Given the description of an element on the screen output the (x, y) to click on. 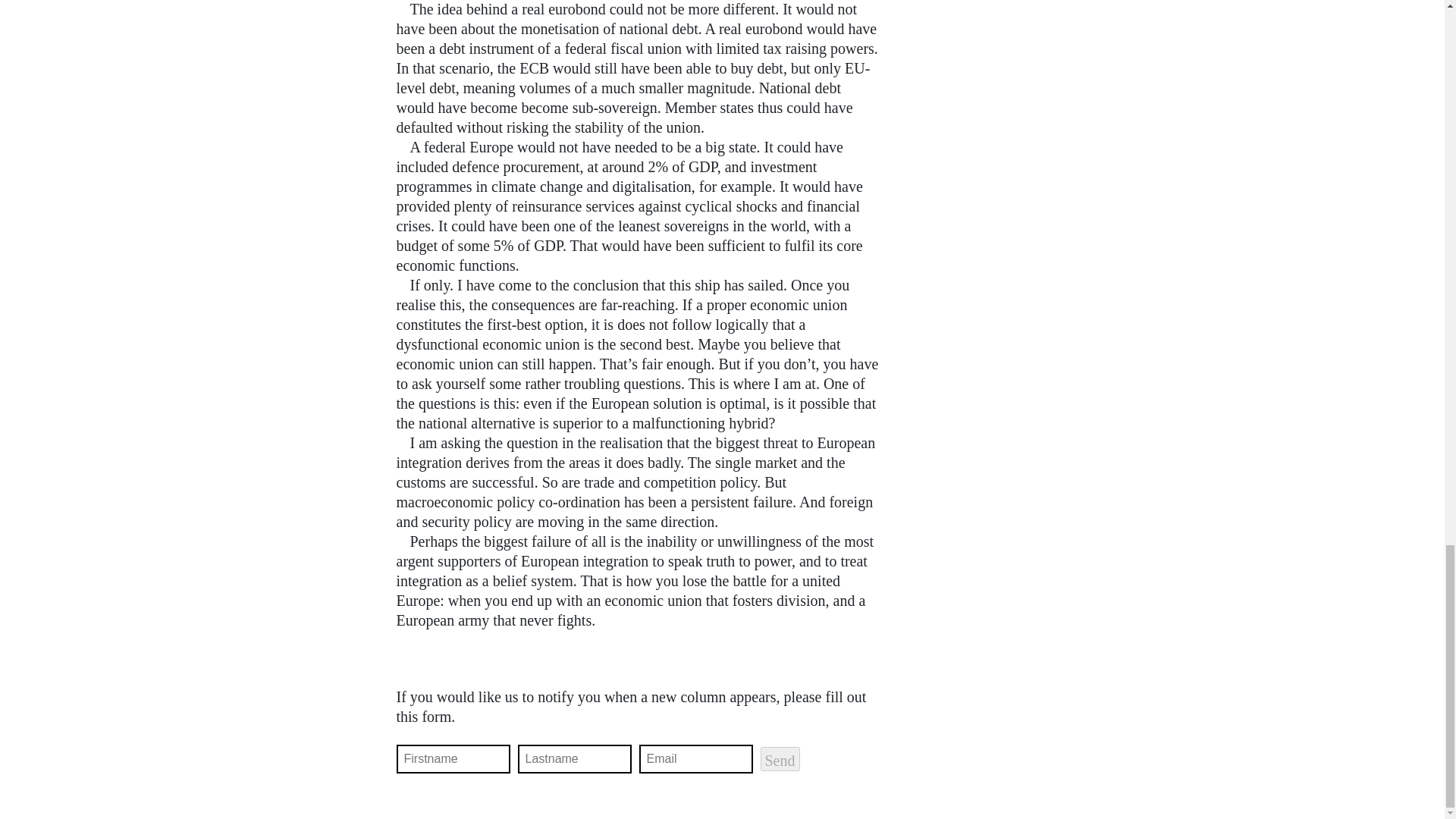
Send (779, 758)
Send (779, 758)
